Given the description of an element on the screen output the (x, y) to click on. 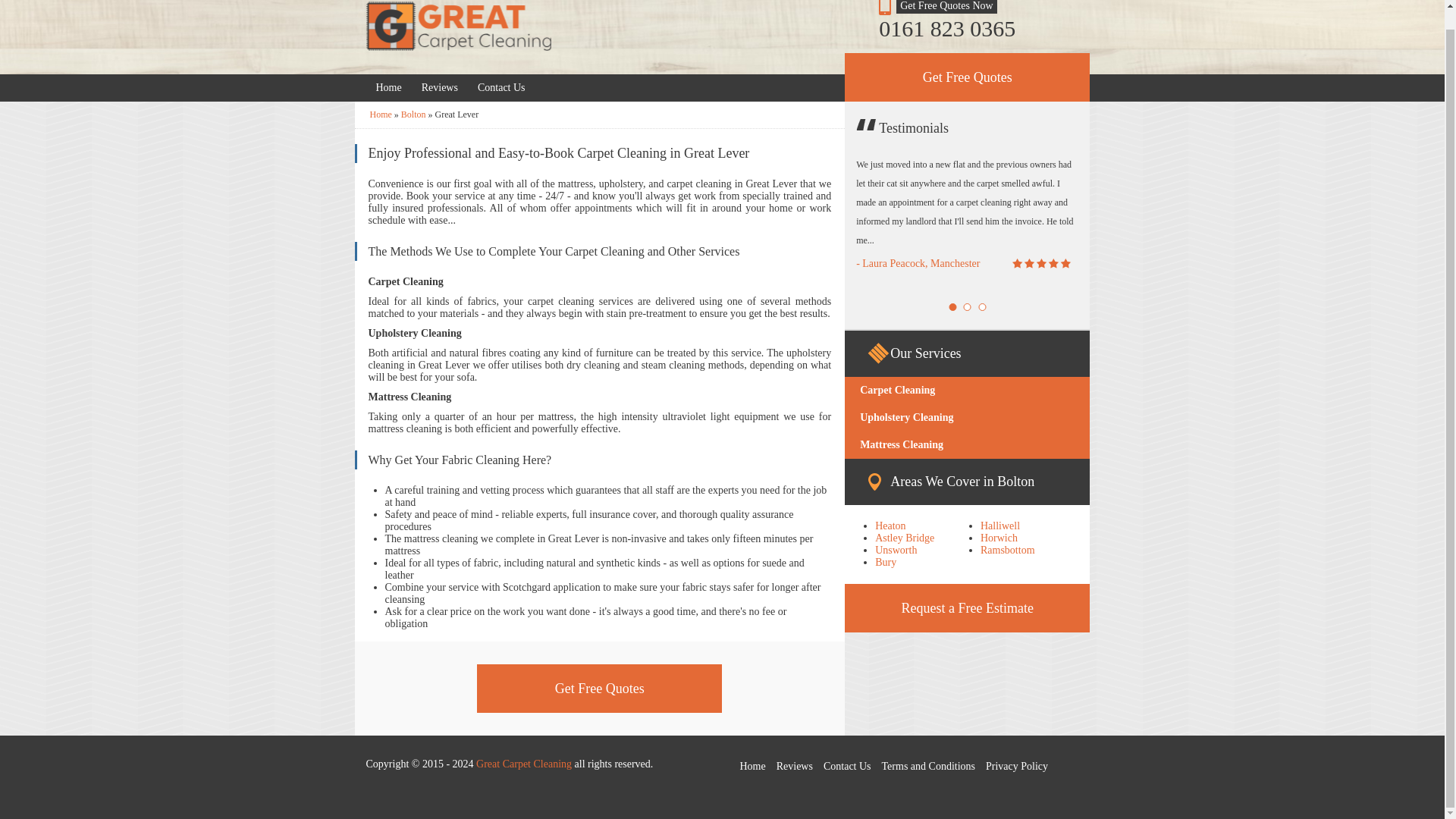
 Bolton (412, 113)
Manchester Carpet Cleaning (387, 87)
Carpet Cleaning Testimonials (439, 87)
Great Carpet Cleaning (380, 113)
Upholstery Cleaning (966, 417)
Contact Us (501, 87)
Mattress Cleaning (966, 444)
Get Free Quotes Today (501, 87)
Heaton (890, 525)
Call Us Now (967, 28)
Get Free Quotes (599, 688)
Home (387, 87)
Horwich (998, 537)
Carpet Cleaning (966, 390)
Great Carpet Cleaning (457, 27)
